Given the description of an element on the screen output the (x, y) to click on. 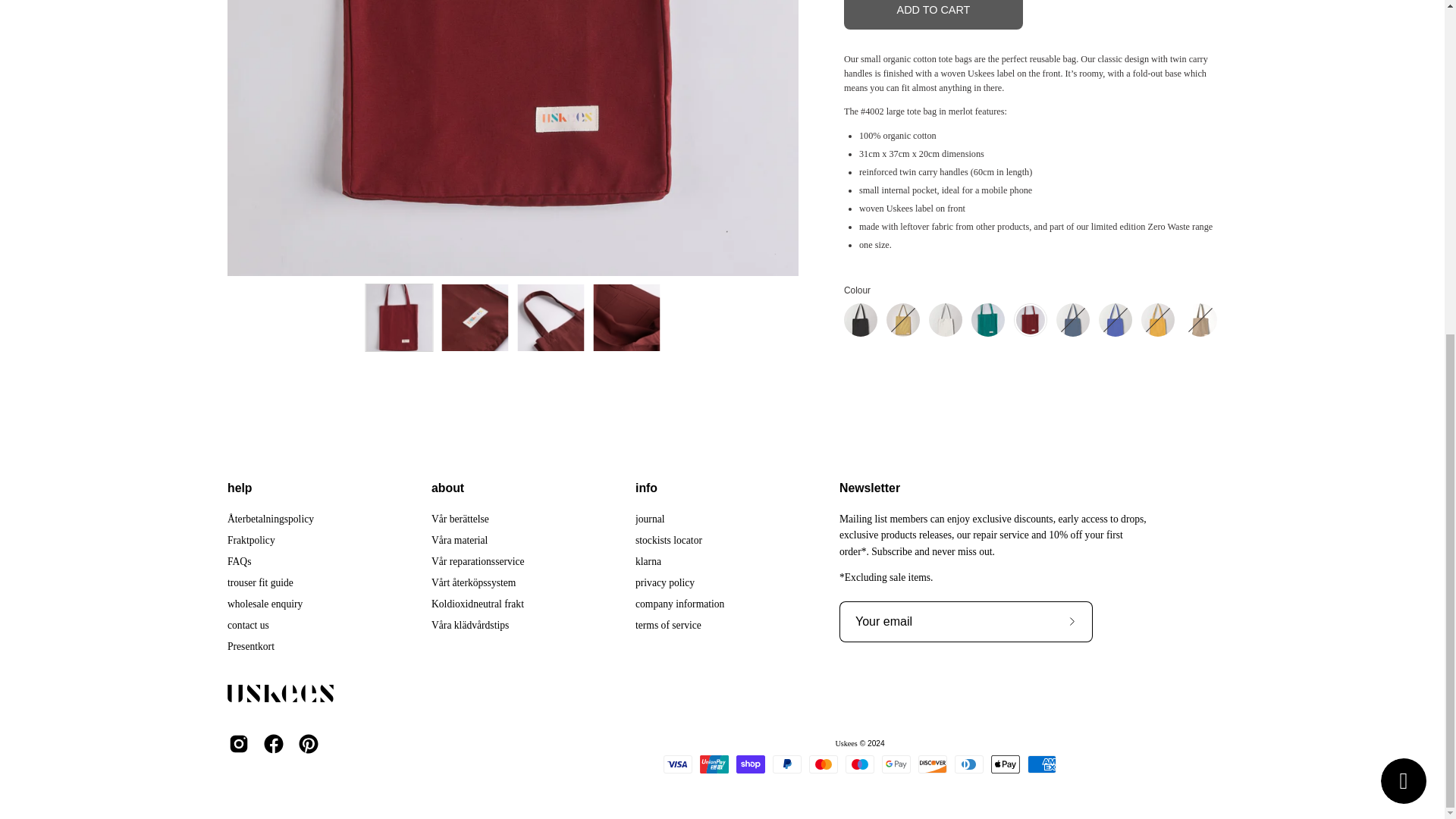
View Uskees on Facebook (273, 743)
View Uskees on Instagram (238, 743)
View Uskees on Pinterest (308, 743)
